Given the description of an element on the screen output the (x, y) to click on. 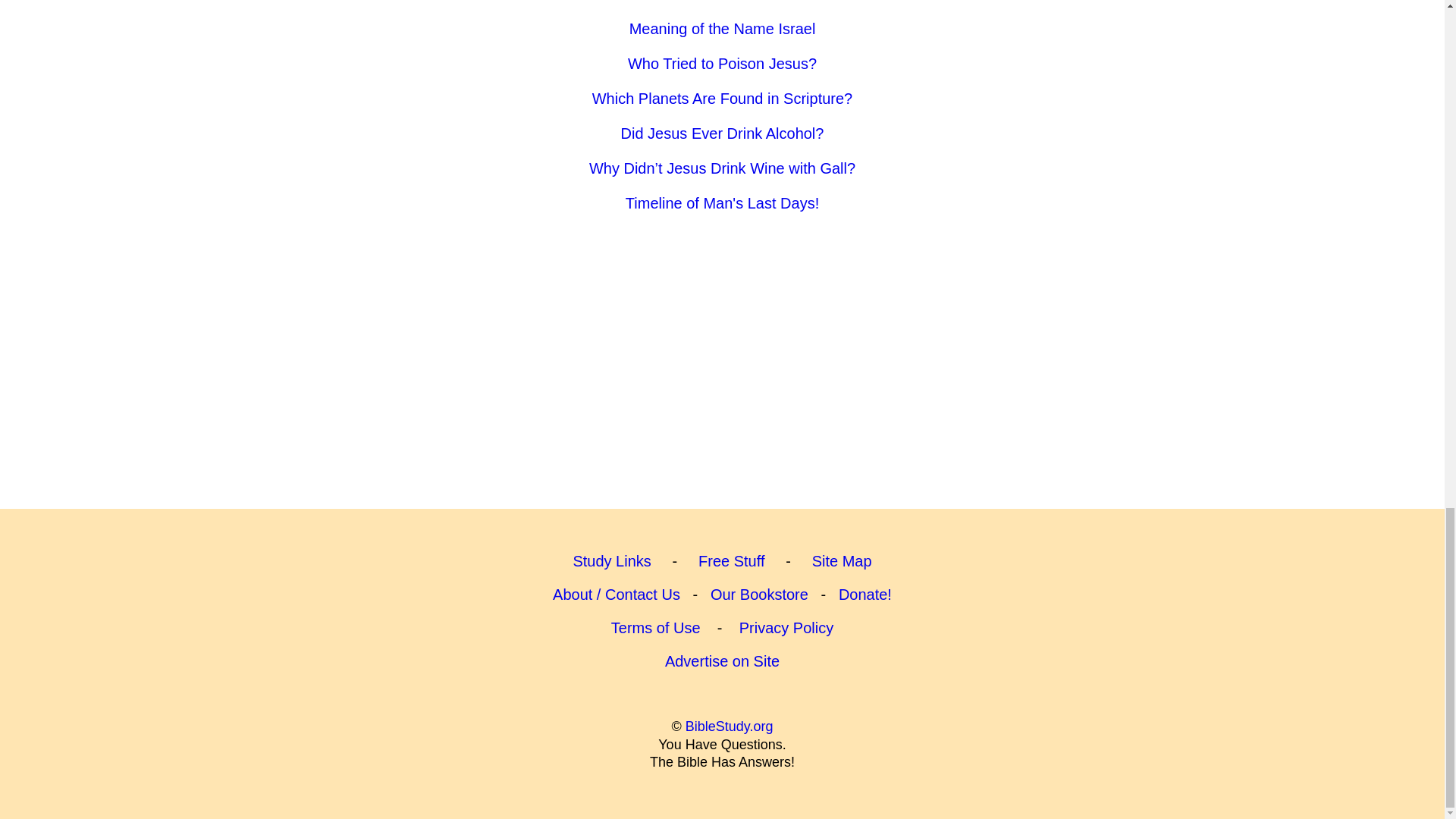
Our Bookstore (759, 594)
Donate! (864, 594)
Free Stuff (731, 560)
Which Planets Are Found in Scripture? (722, 98)
BibleStudy.org (729, 726)
Who Tried to Poison Jesus? (721, 63)
Advertise on Site (721, 660)
Study Links (611, 560)
Timeline of Man's Last Days! (722, 202)
Can a Plant or Animal Sin? (721, 1)
Site Map (842, 560)
Did Jesus Ever Drink Alcohol? (722, 133)
Privacy Policy (785, 627)
Terms of Use (655, 627)
Meaning of the Name Israel (721, 28)
